Given the description of an element on the screen output the (x, y) to click on. 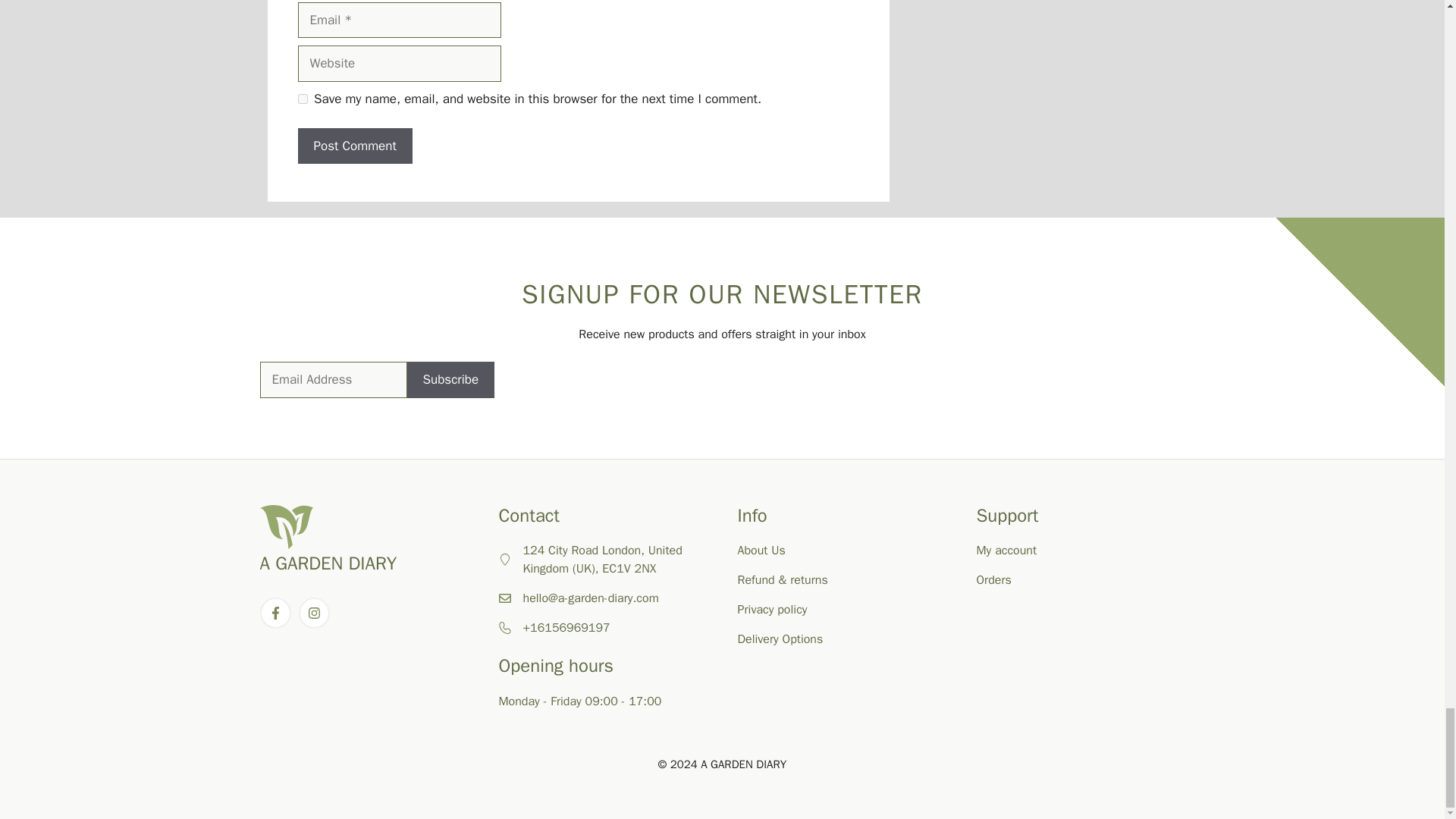
Post Comment (354, 145)
About Us (760, 549)
Post Comment (354, 145)
Privacy policy (771, 609)
Botanist logo (286, 526)
Subscribe (450, 379)
Subscribe (450, 379)
yes (302, 99)
